Given the description of an element on the screen output the (x, y) to click on. 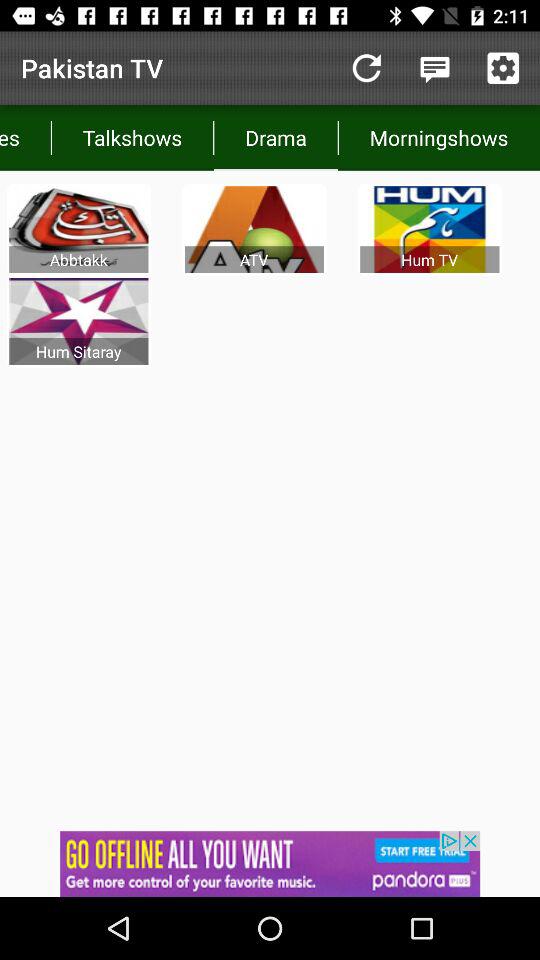
notifications (270, 864)
